Given the description of an element on the screen output the (x, y) to click on. 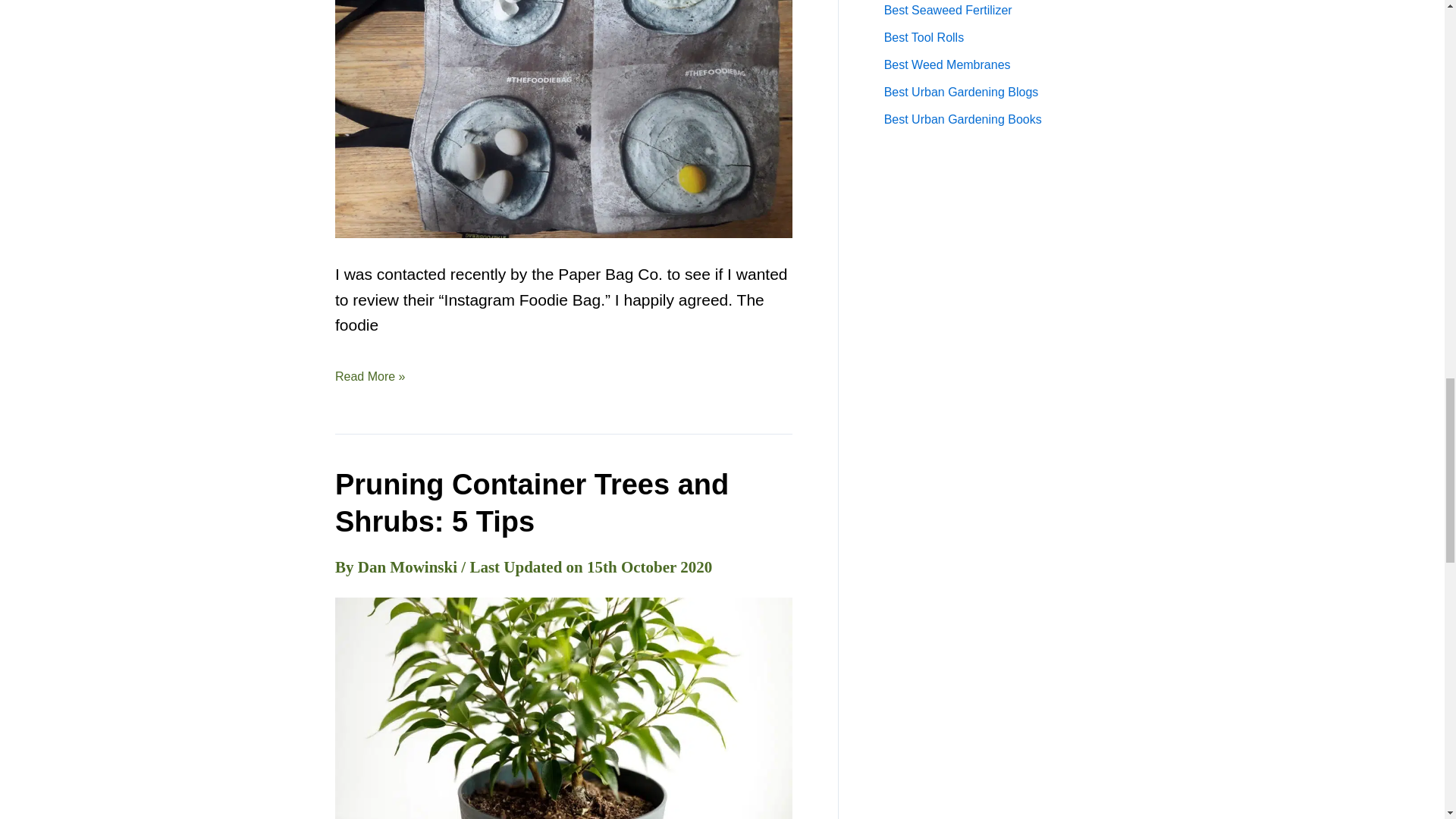
View all posts by Dan Mowinski (409, 566)
